Given the description of an element on the screen output the (x, y) to click on. 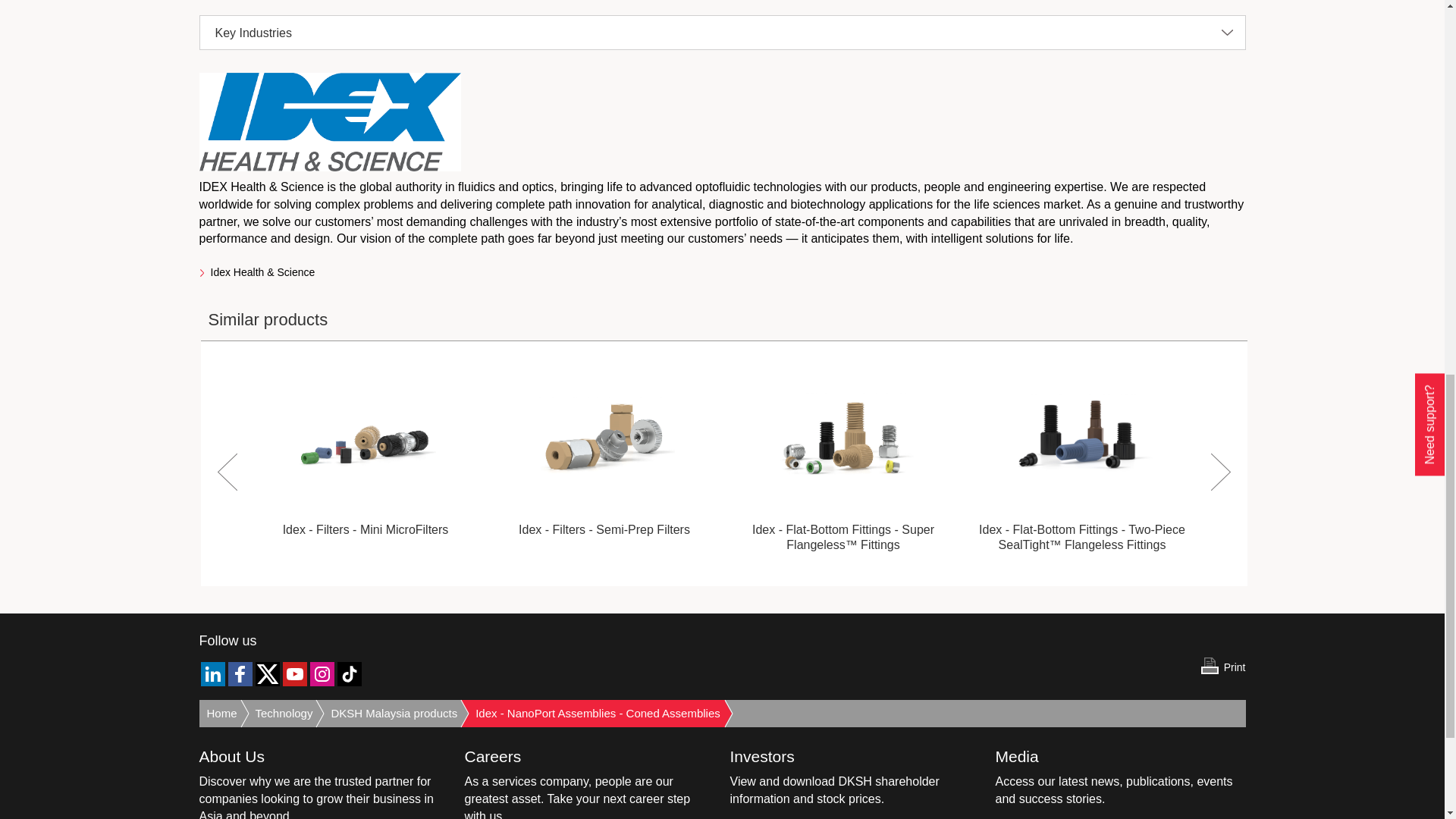
Follow on X (266, 676)
Instagram (320, 673)
Follow on LinkedIn (212, 676)
Twitter (266, 673)
Facebook (239, 673)
TikTok (348, 673)
Follow on TikTok (348, 676)
YouTube (293, 673)
LinkedIn (212, 673)
Follow on Facebook (239, 676)
Follow on YouTube (293, 676)
Follow on Instagram (320, 676)
